Given the description of an element on the screen output the (x, y) to click on. 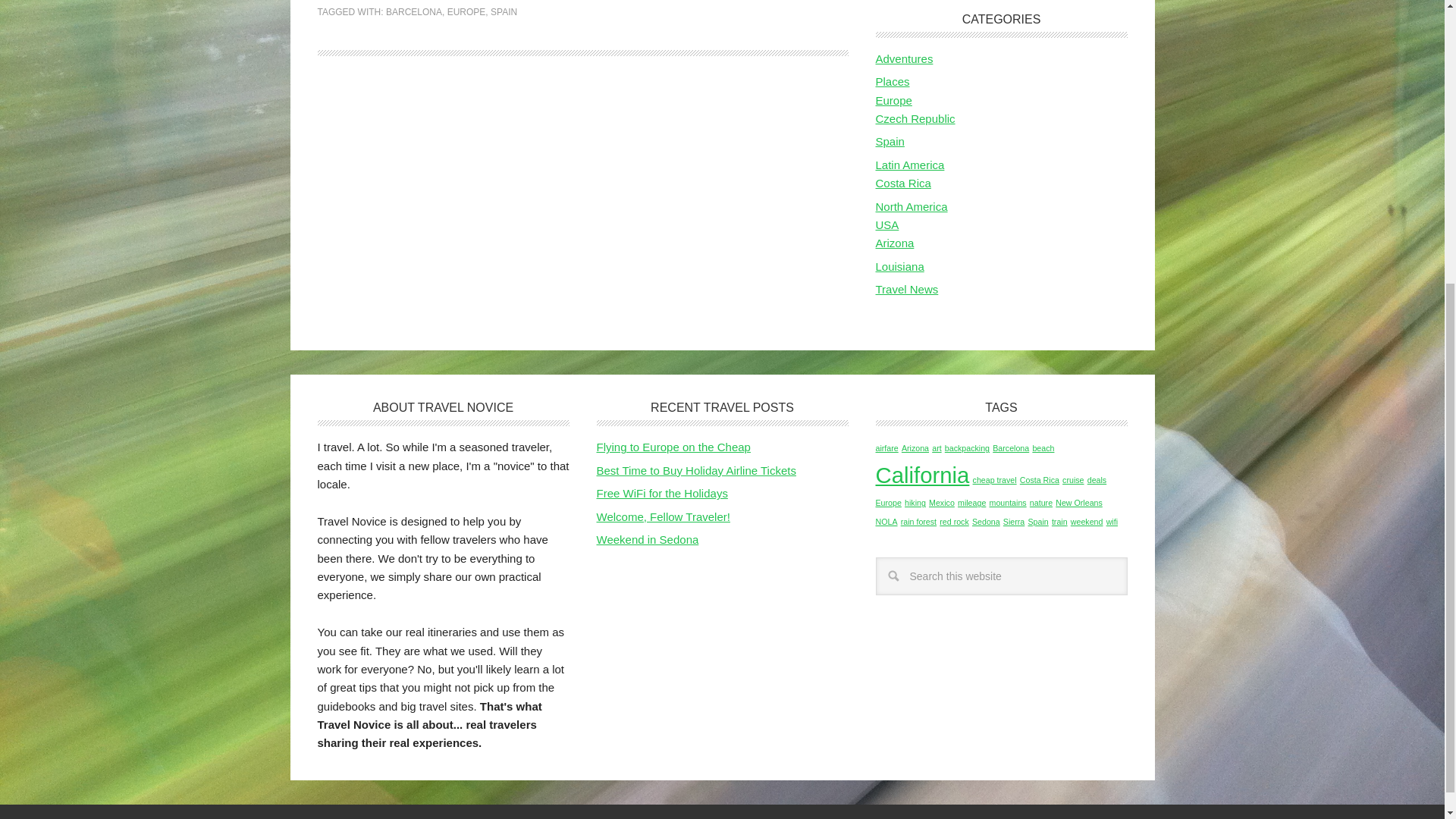
Spain (889, 141)
Places (891, 81)
EUROPE (466, 11)
art (935, 447)
Weekend in Sedona (646, 539)
Best Time to Buy Holiday Airline Tickets (694, 470)
Adventures (904, 58)
Flying to Europe on the Cheap (672, 446)
Free WiFi for the Holidays (660, 492)
Travel News (906, 288)
Arizona (914, 447)
Europe (893, 100)
Louisiana (899, 266)
